Given the description of an element on the screen output the (x, y) to click on. 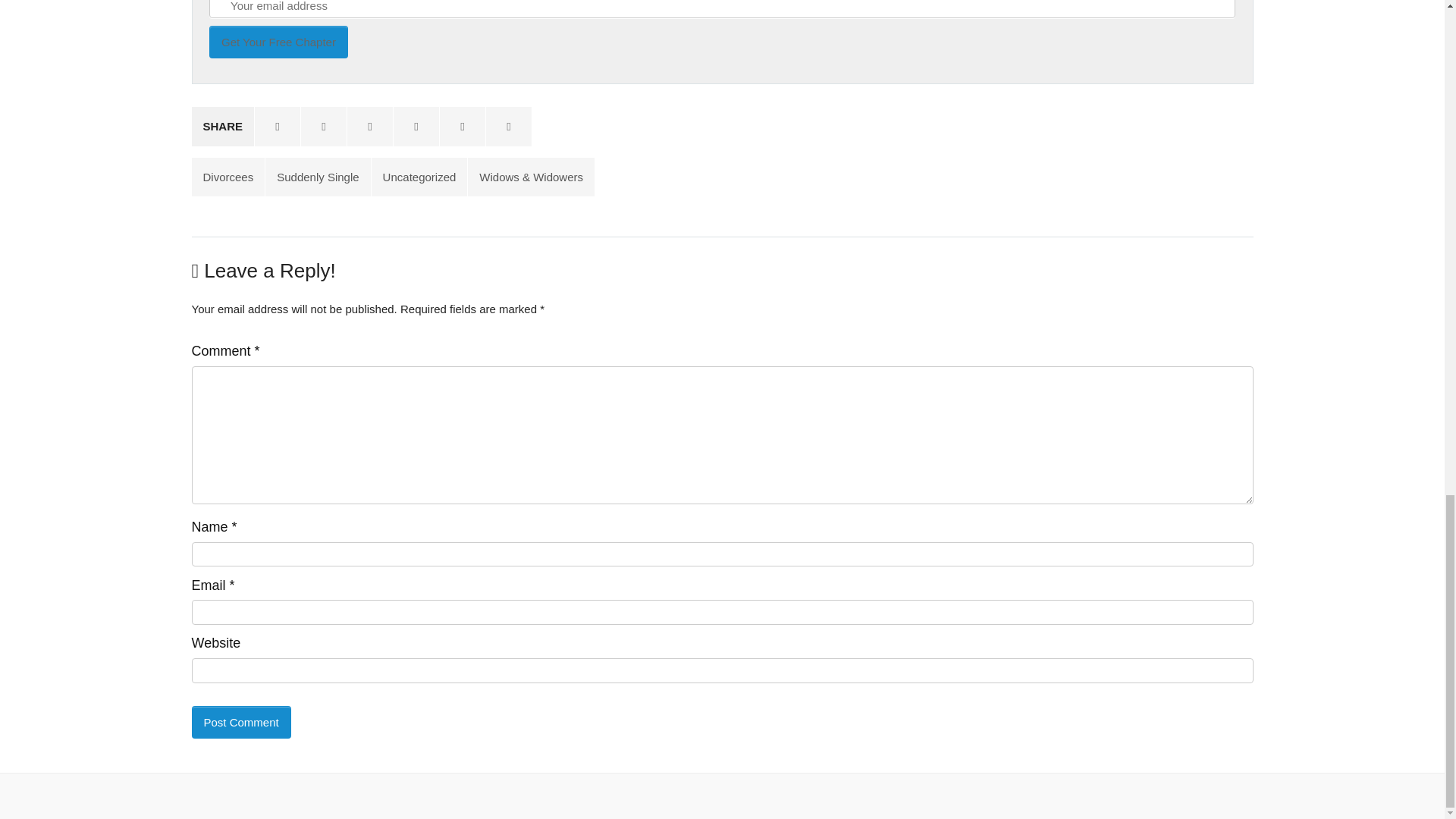
Post Comment (239, 721)
Uncategorized (419, 177)
Get Your Free Chapter (278, 41)
Suddenly Single (316, 177)
Divorcees (227, 177)
Get Your Free Chapter (278, 41)
Post Comment (239, 721)
